Given the description of an element on the screen output the (x, y) to click on. 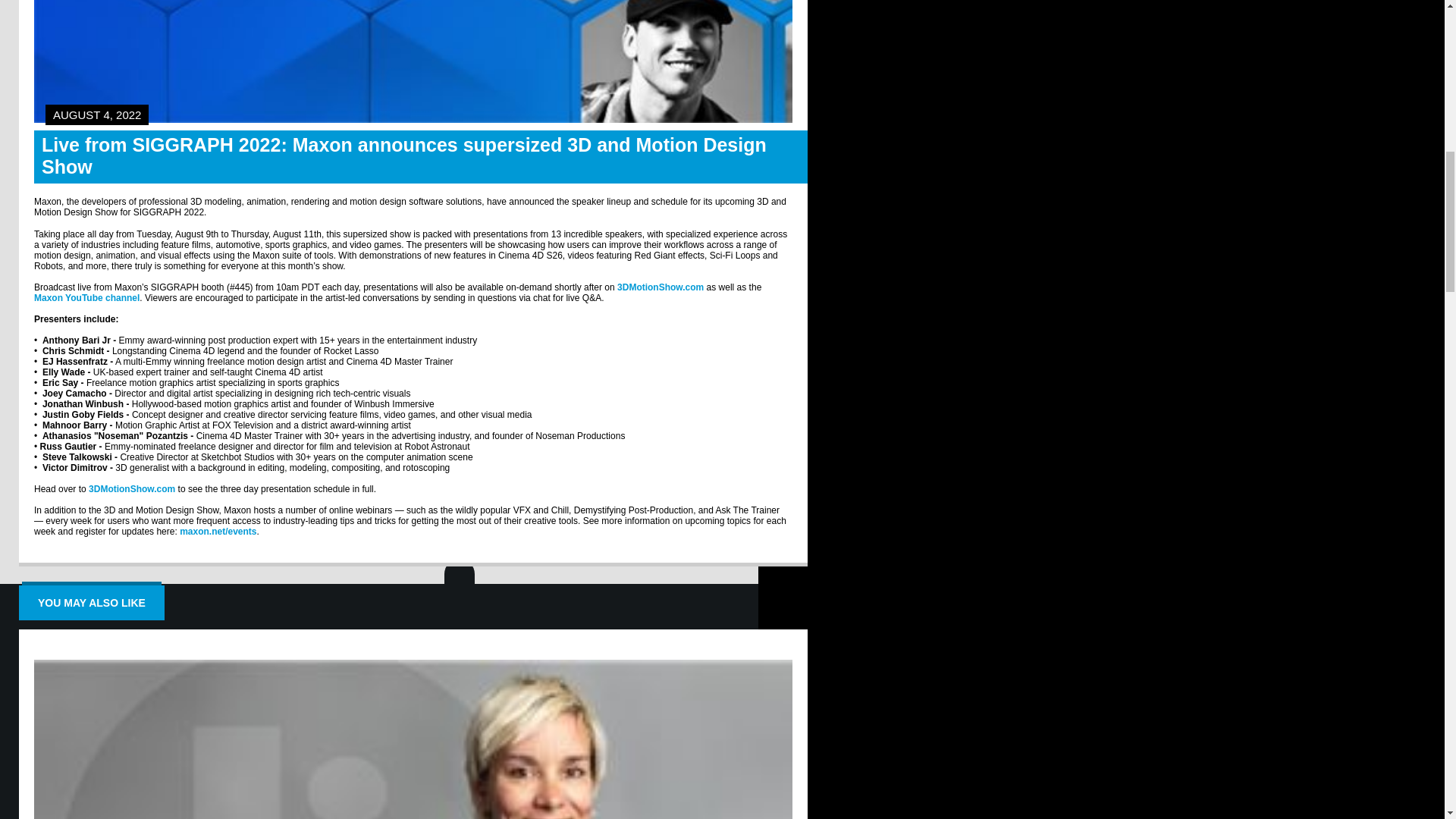
3DMotionShow.com (660, 286)
3DMotionShow.com (131, 489)
Maxon YouTube channel (86, 297)
